Given the description of an element on the screen output the (x, y) to click on. 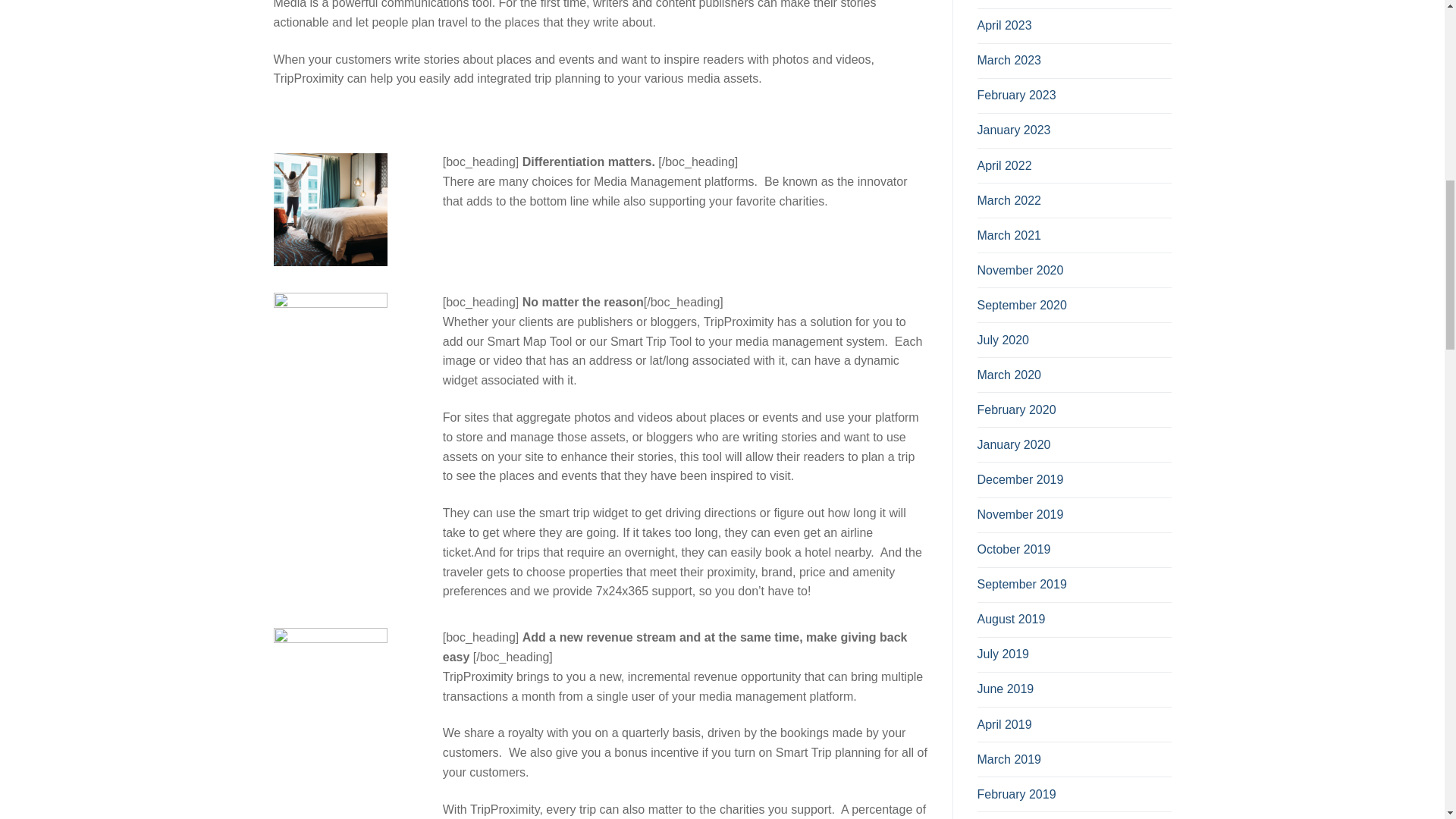
Screen Shot 2020-08-21 at 12.55.16 PM (330, 349)
Screen Shot 2020-08-21 at 12.55.33 PM (330, 685)
Screen Shot 2020-08-21 at 12.55.08 PM (330, 209)
